Given the description of an element on the screen output the (x, y) to click on. 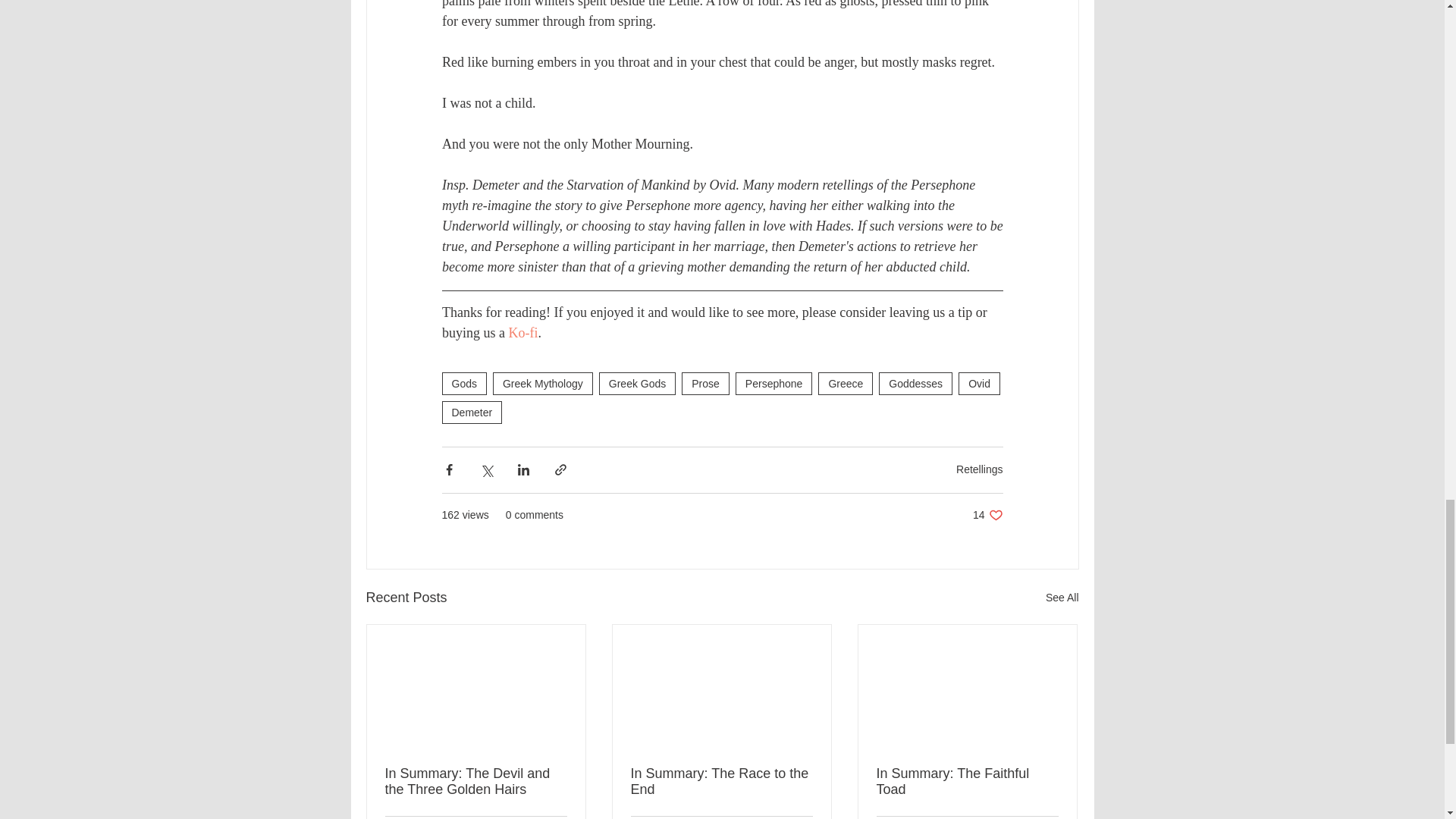
In Summary: The Faithful Toad (967, 781)
Persephone (773, 383)
Greek Mythology (542, 383)
Ovid (979, 383)
Greece (845, 383)
Demeter (471, 412)
Retellings (979, 469)
In Summary: The Race to the End (721, 781)
In Summary: The Devil and the Three Golden Hairs (476, 781)
Prose (705, 383)
